Given the description of an element on the screen output the (x, y) to click on. 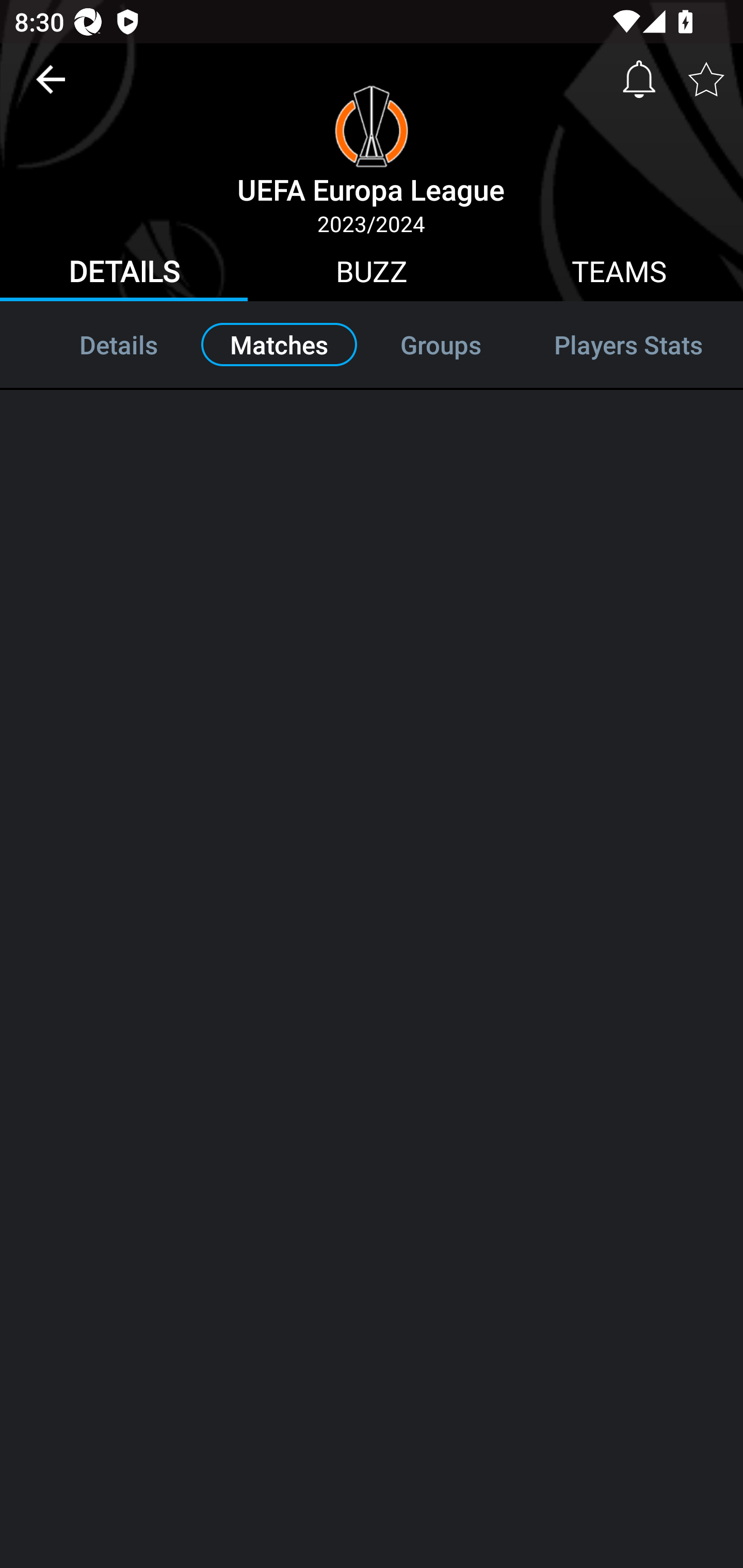
Navigate up (50, 86)
DETAILS (123, 274)
BUZZ (371, 274)
TEAMS (619, 274)
Details (96, 344)
Groups (440, 344)
Players Stats (628, 344)
